Given the description of an element on the screen output the (x, y) to click on. 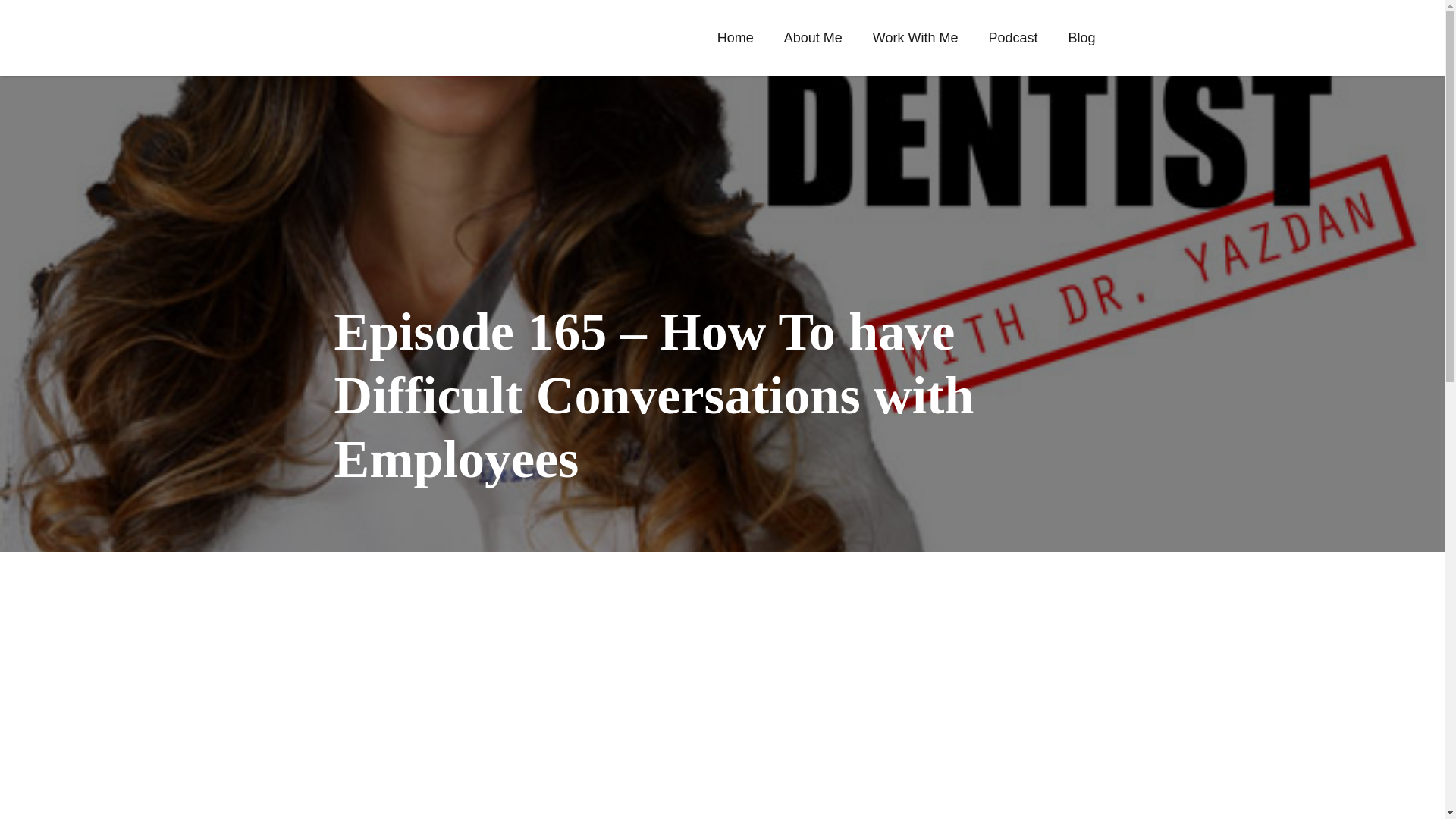
Work With Me (915, 37)
Home (734, 37)
Blog (1080, 37)
Podcast (1012, 37)
About Me (812, 37)
